Given the description of an element on the screen output the (x, y) to click on. 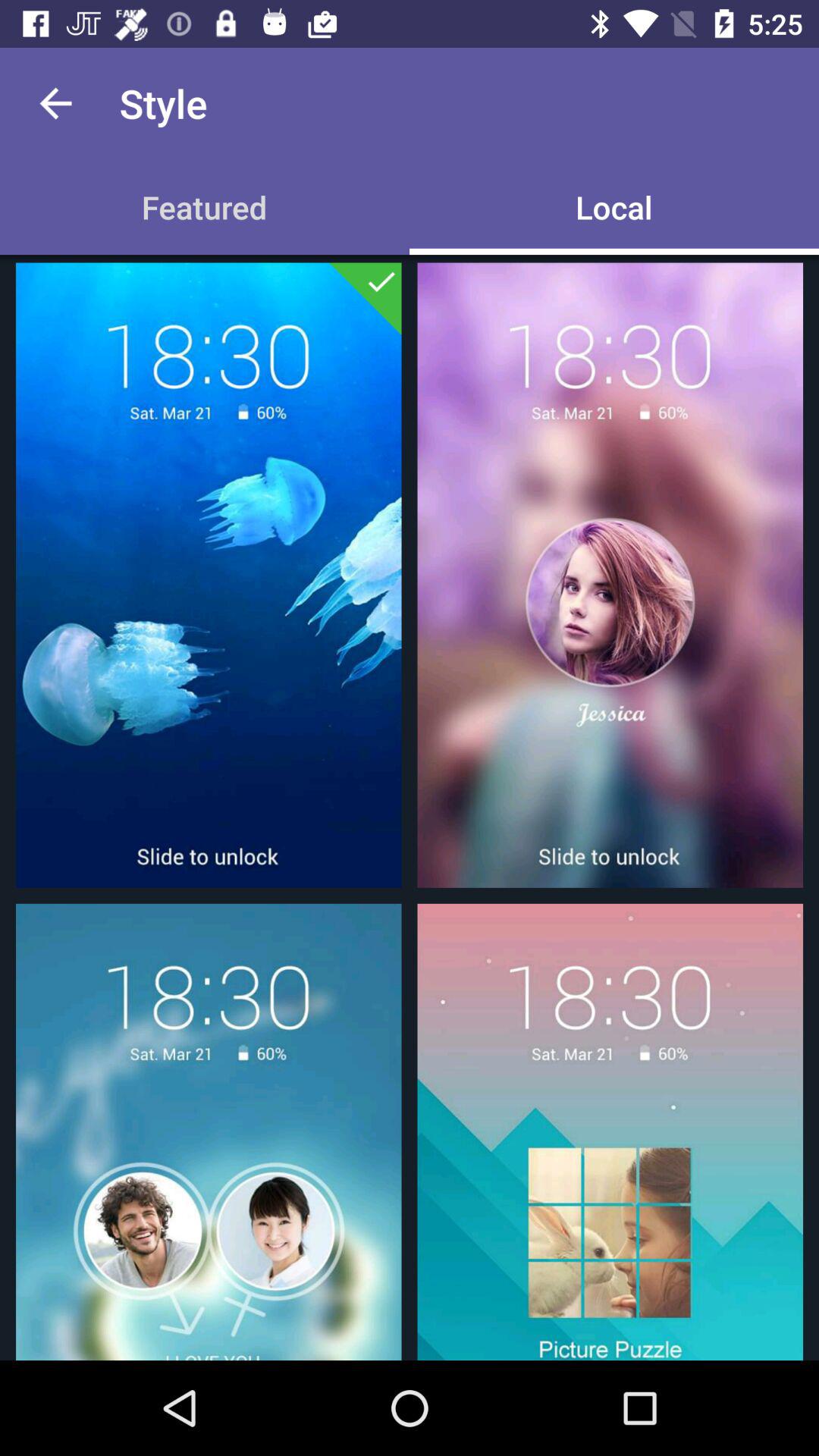
turn on the icon next to the style app (55, 103)
